Given the description of an element on the screen output the (x, y) to click on. 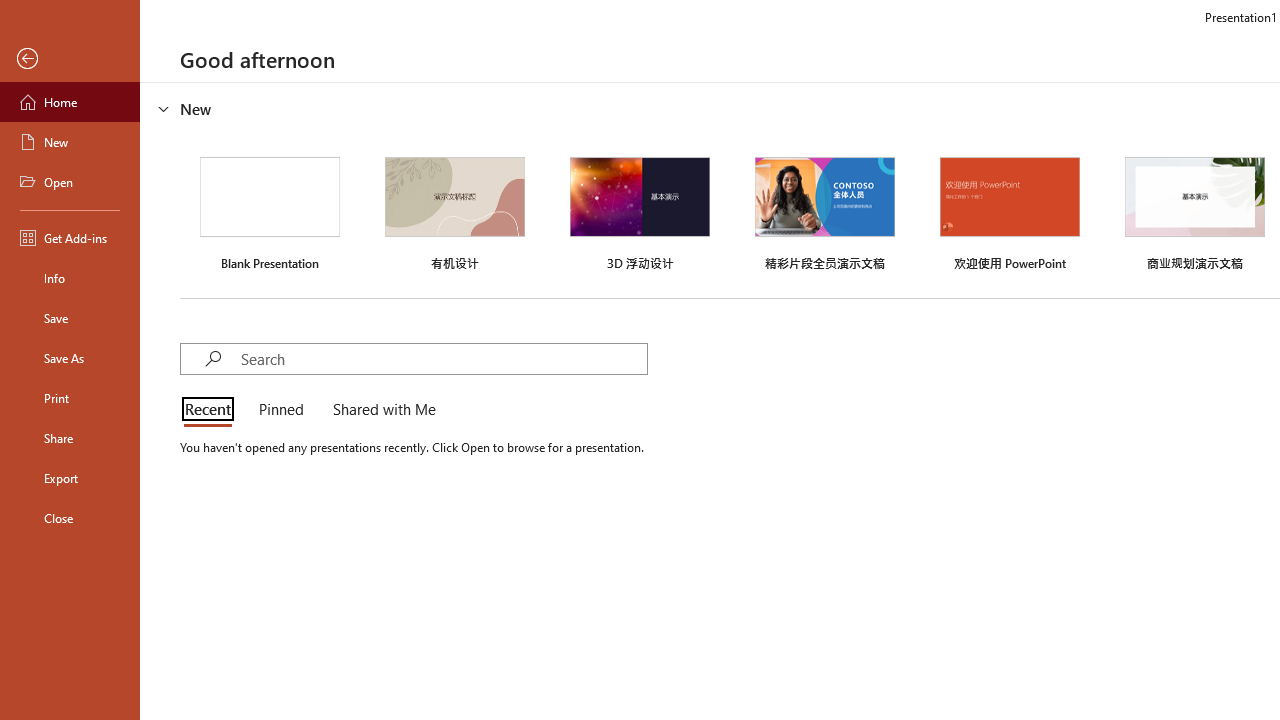
Search (443, 358)
Share (69, 437)
New (69, 141)
Open (69, 182)
Export (69, 477)
Shared with Me (379, 410)
Home (69, 101)
Print (69, 398)
